Given the description of an element on the screen output the (x, y) to click on. 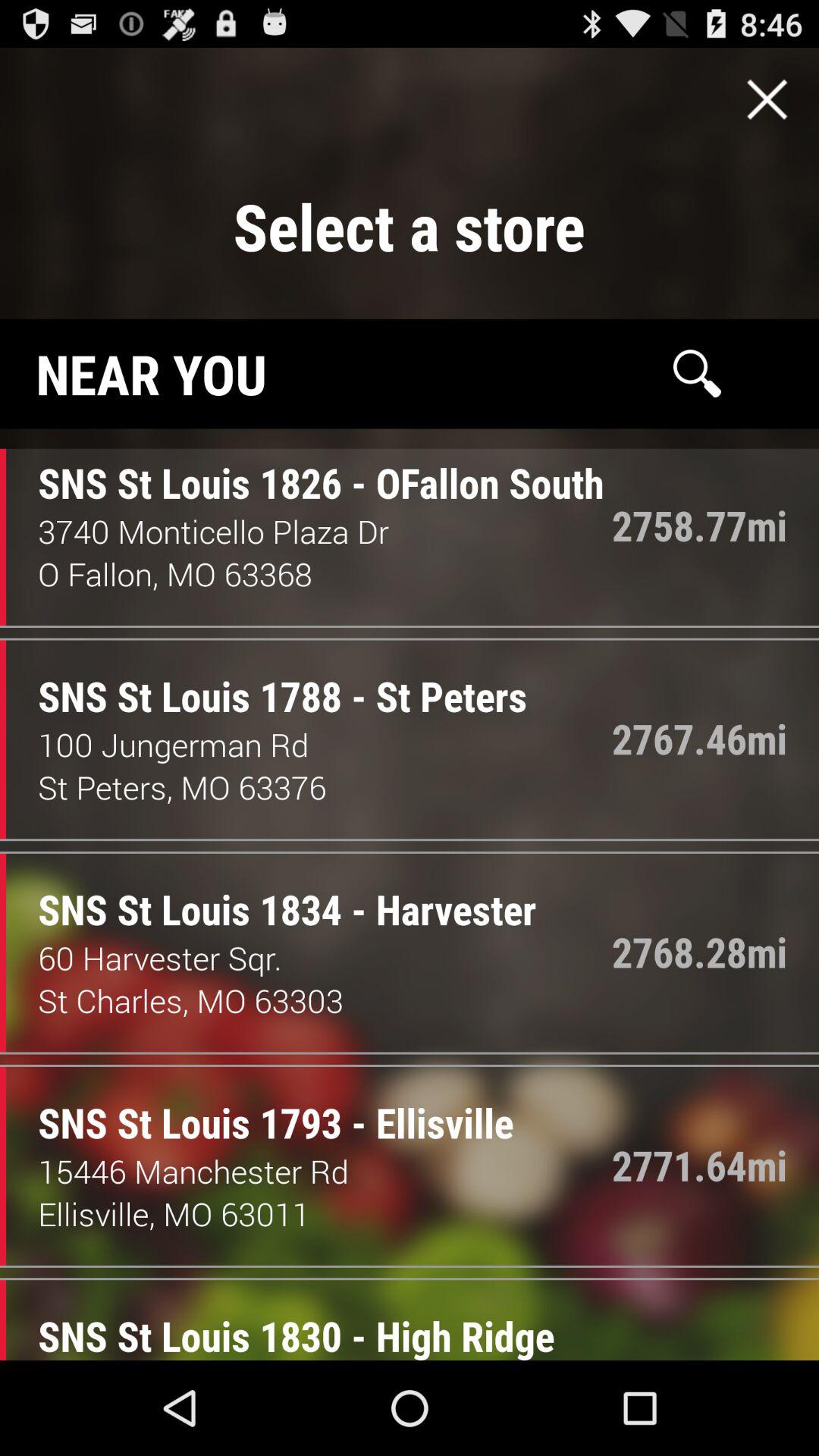
search page (697, 373)
